Given the description of an element on the screen output the (x, y) to click on. 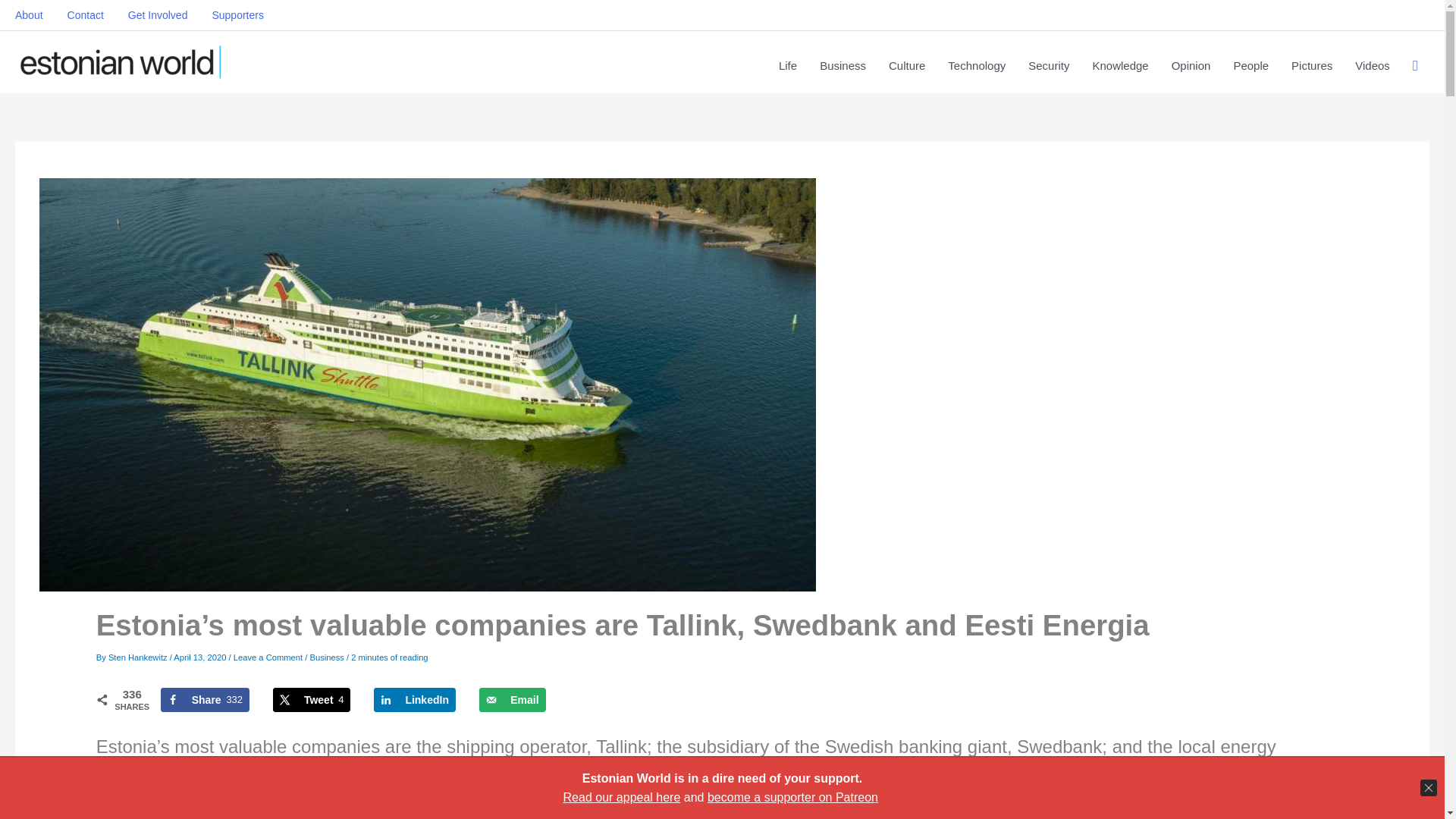
Business (325, 655)
View all posts by Sten Hankewitz (138, 655)
People (1250, 65)
Technology (204, 699)
Culture (976, 65)
Supporters (906, 65)
Send over email (237, 15)
Get Involved (511, 699)
Life (158, 15)
Videos (787, 65)
Pictures (1371, 65)
Contact (1311, 65)
About (311, 699)
